Given the description of an element on the screen output the (x, y) to click on. 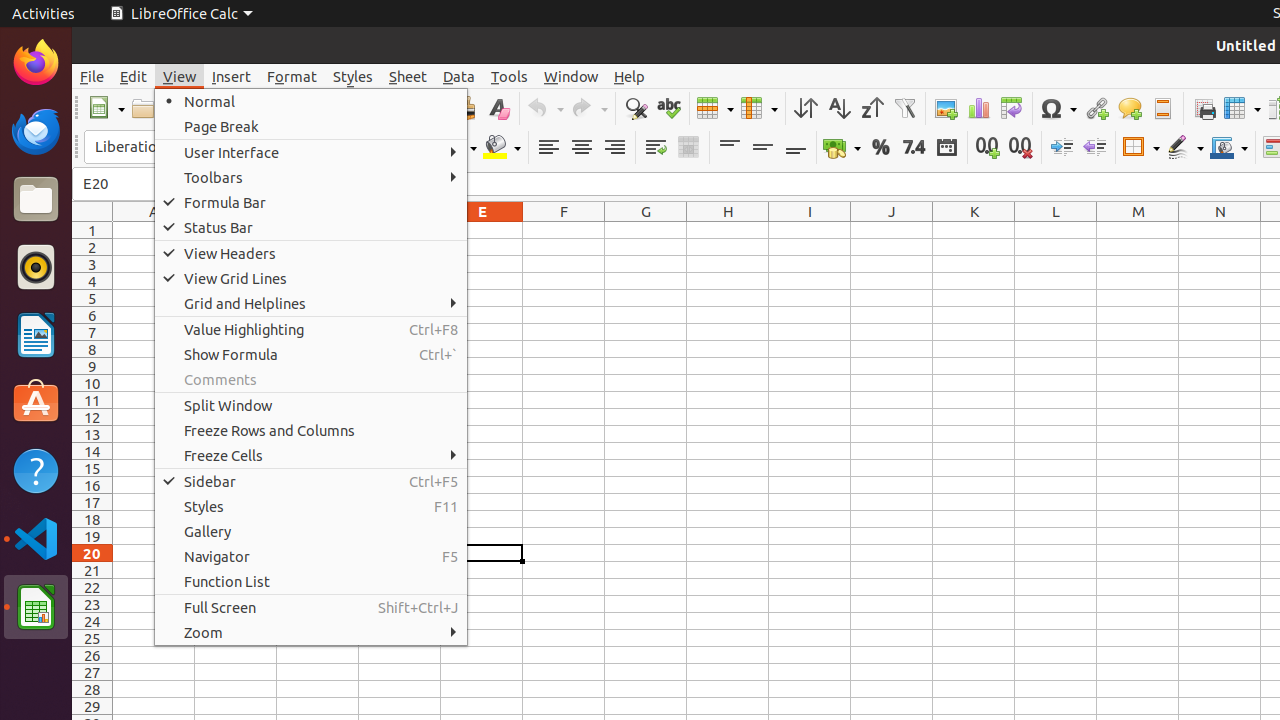
F1 Element type: table-cell (564, 230)
N1 Element type: table-cell (1220, 230)
Sort Element type: push-button (805, 108)
Find & Replace Element type: toggle-button (635, 108)
Date Element type: push-button (946, 147)
